Given the description of an element on the screen output the (x, y) to click on. 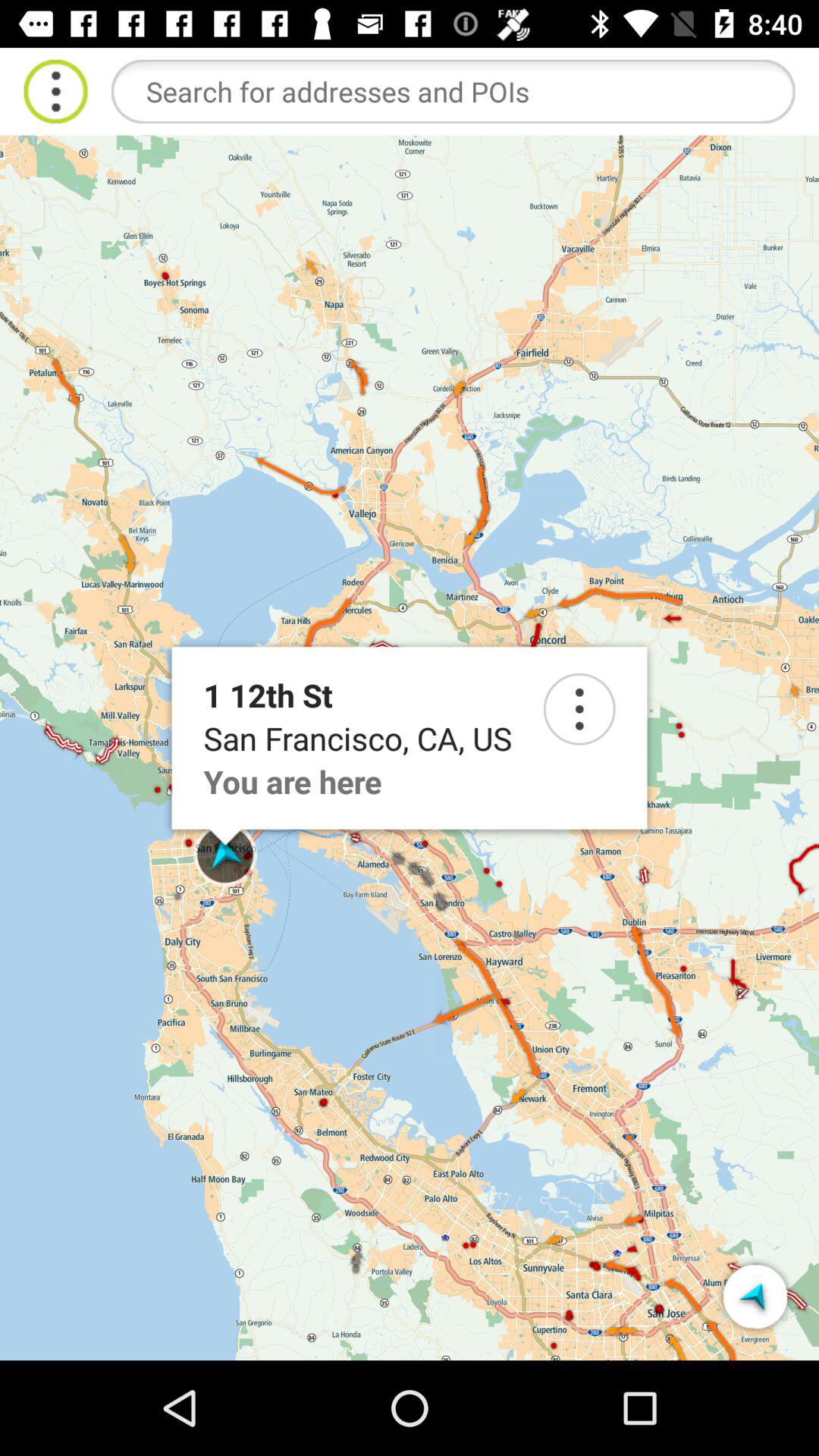
more option (55, 91)
